Given the description of an element on the screen output the (x, y) to click on. 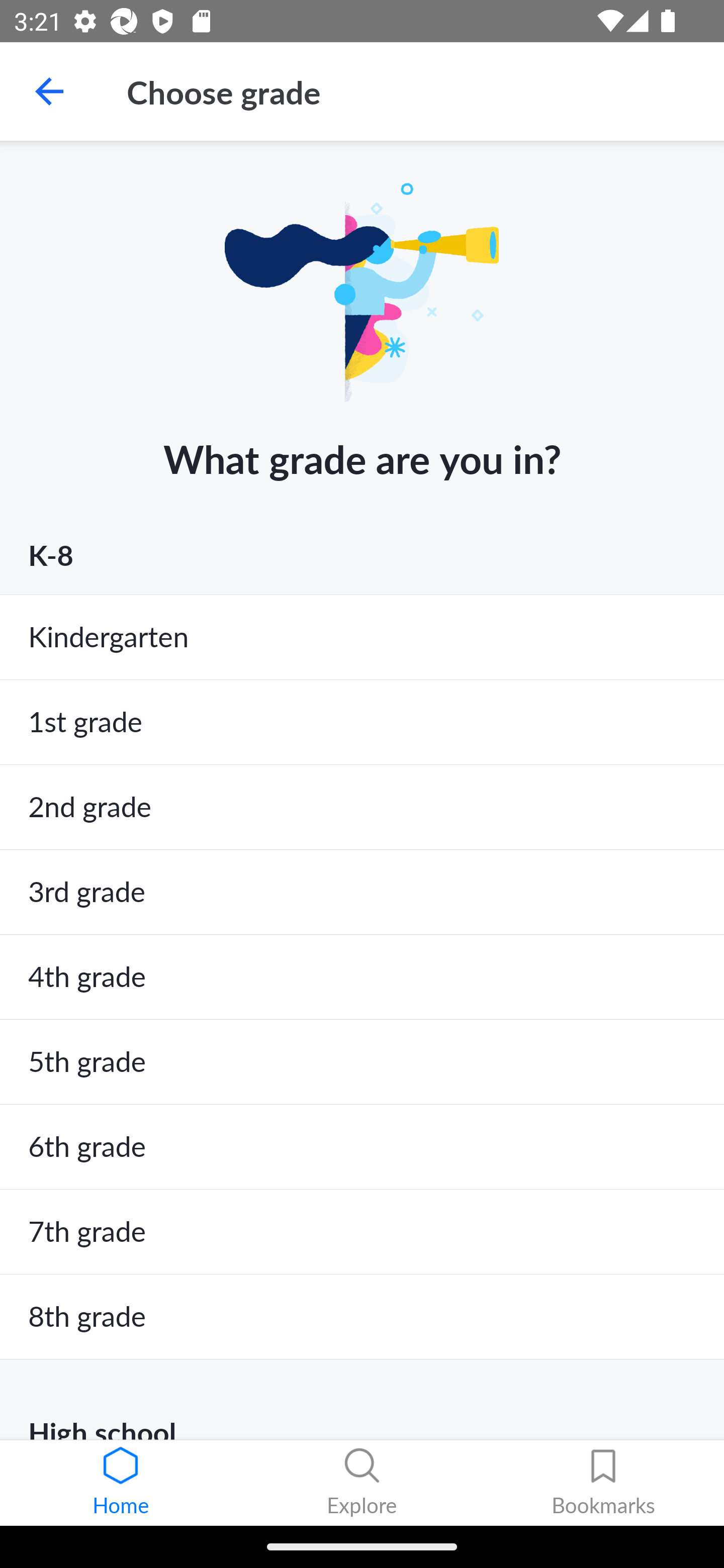
Navigate up (49, 91)
Kindergarten (362, 637)
1st grade (362, 722)
2nd grade (362, 807)
3rd grade (362, 891)
4th grade (362, 976)
5th grade (362, 1061)
6th grade (362, 1146)
7th grade (362, 1232)
8th grade (362, 1316)
Home (120, 1482)
Explore (361, 1482)
Bookmarks (603, 1482)
